Given the description of an element on the screen output the (x, y) to click on. 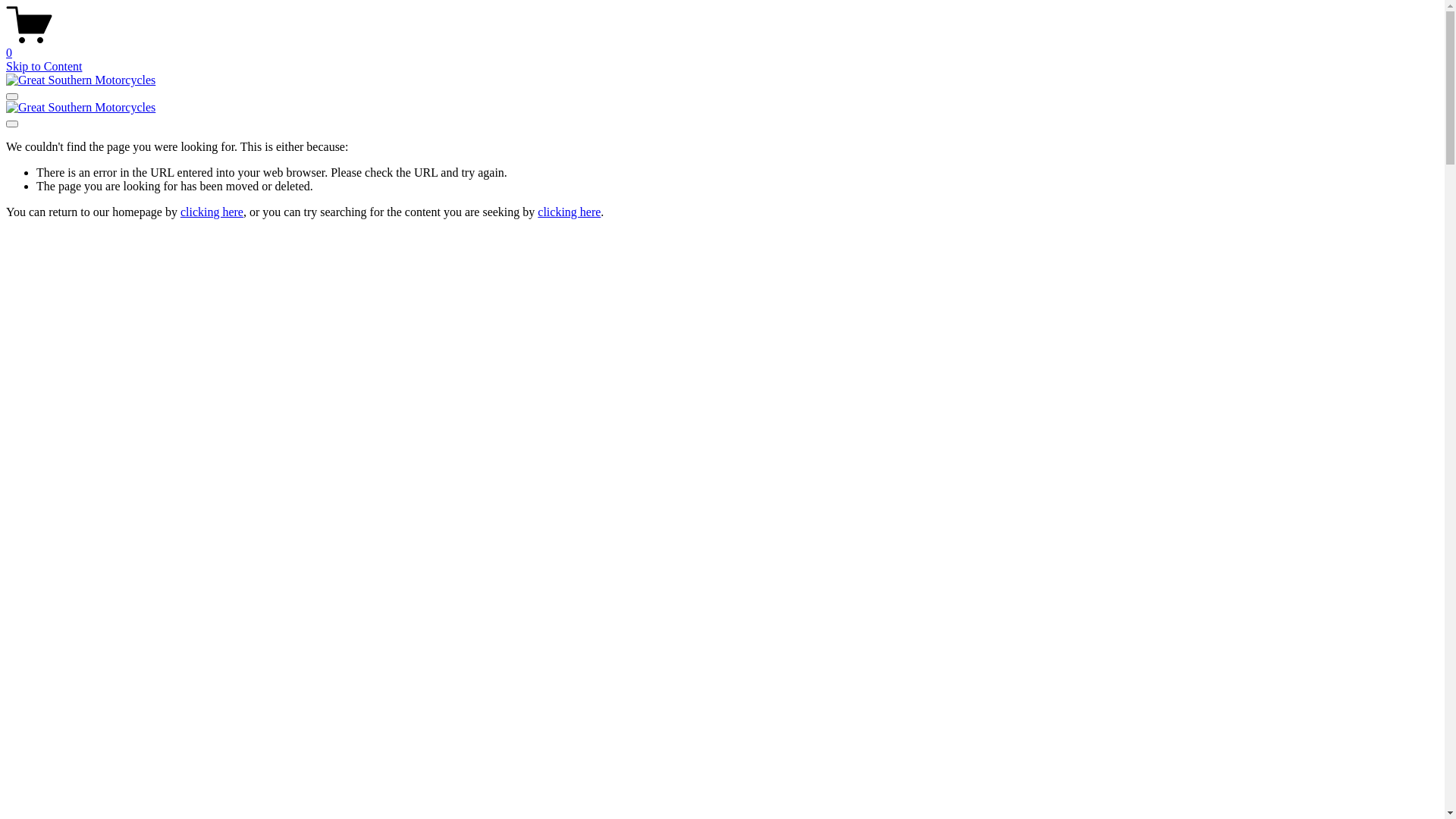
0 Element type: text (722, 45)
Skip to Content Element type: text (43, 65)
clicking here Element type: text (568, 211)
clicking here Element type: text (211, 211)
